Given the description of an element on the screen output the (x, y) to click on. 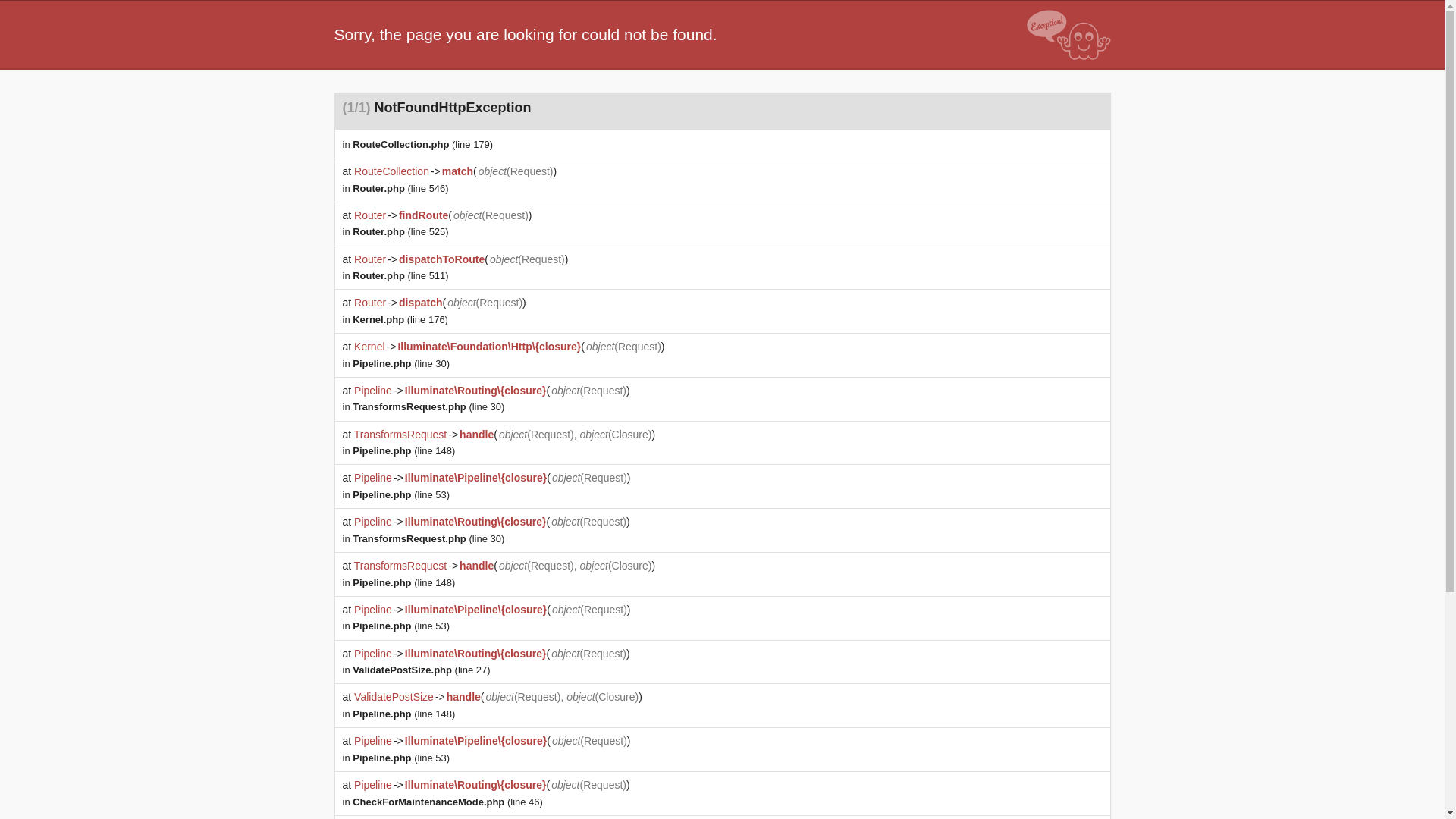
Pipeline.php (line 30) Element type: text (400, 363)
Pipeline.php (line 53) Element type: text (400, 494)
TransformsRequest.php (line 30) Element type: text (428, 538)
Pipeline.php (line 148) Element type: text (403, 582)
Pipeline.php (line 53) Element type: text (400, 757)
Router.php (line 525) Element type: text (400, 231)
Pipeline.php (line 53) Element type: text (400, 625)
Pipeline.php (line 148) Element type: text (403, 450)
RouteCollection.php (line 179) Element type: text (422, 144)
TransformsRequest.php (line 30) Element type: text (428, 406)
Router.php (line 546) Element type: text (400, 188)
ValidatePostSize.php (line 27) Element type: text (420, 669)
Router.php (line 511) Element type: text (400, 275)
Pipeline.php (line 148) Element type: text (403, 713)
Kernel.php (line 176) Element type: text (400, 319)
CheckForMaintenanceMode.php (line 46) Element type: text (447, 801)
